Given the description of an element on the screen output the (x, y) to click on. 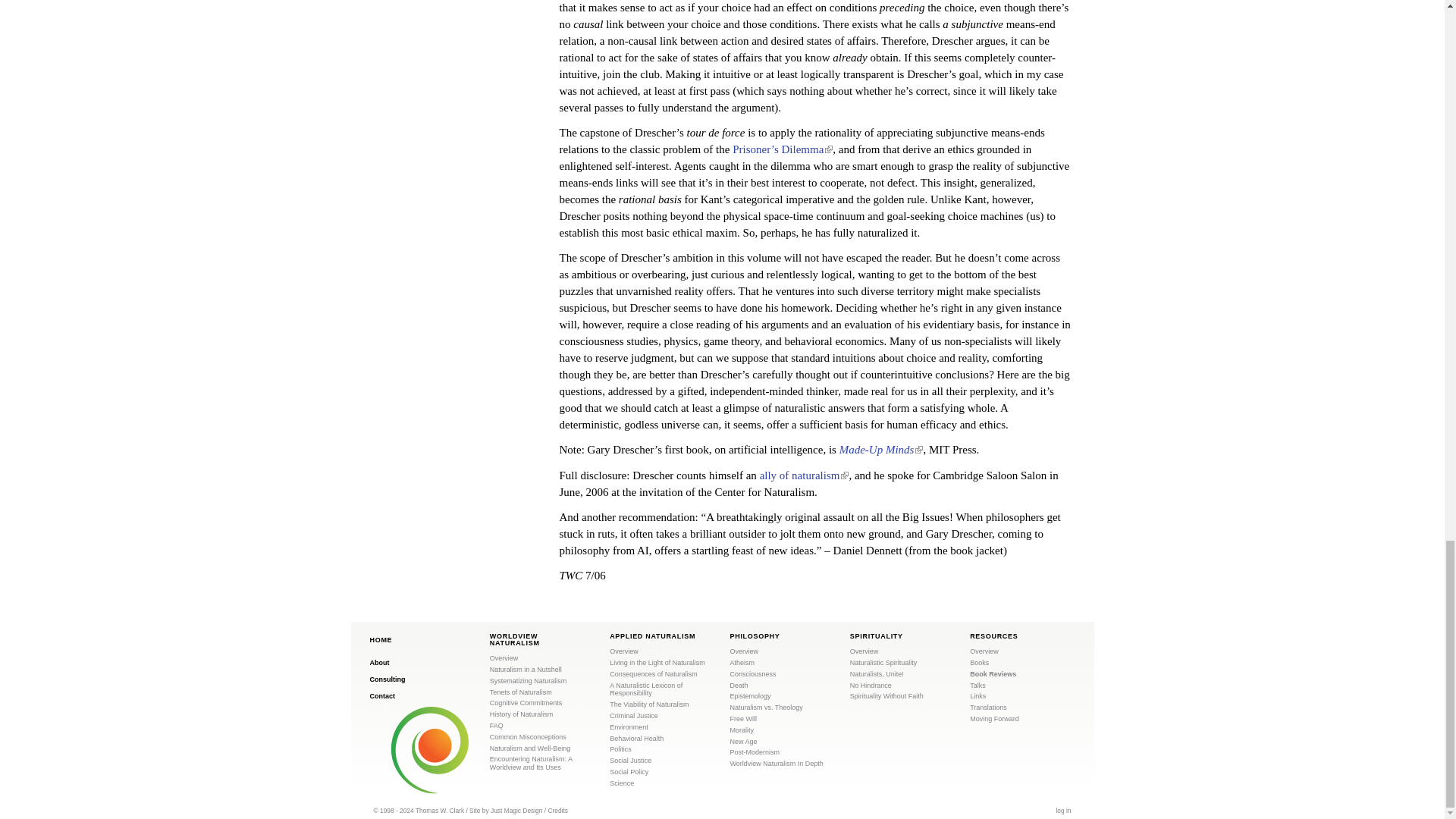
Home (381, 641)
